Given the description of an element on the screen output the (x, y) to click on. 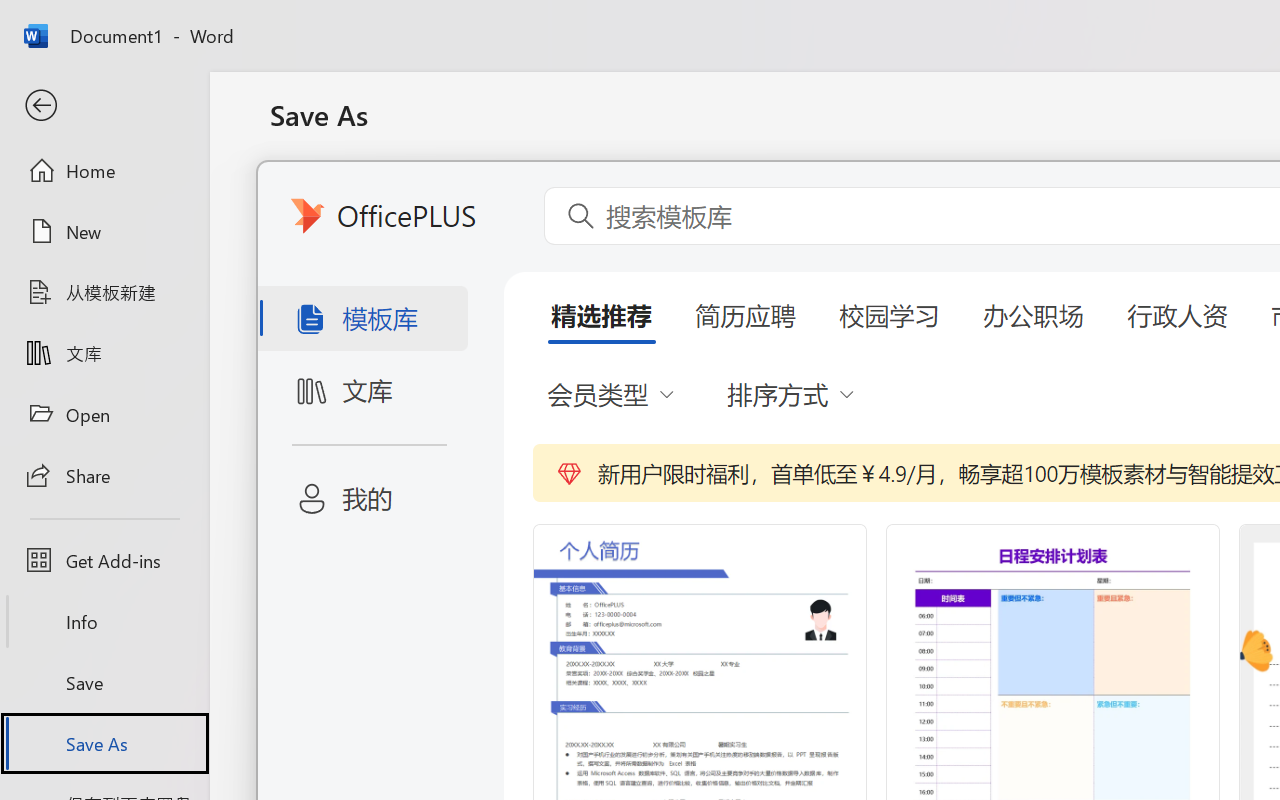
Back (104, 106)
This PC (481, 566)
Copy Link (481, 469)
OneDrive (481, 273)
